Given the description of an element on the screen output the (x, y) to click on. 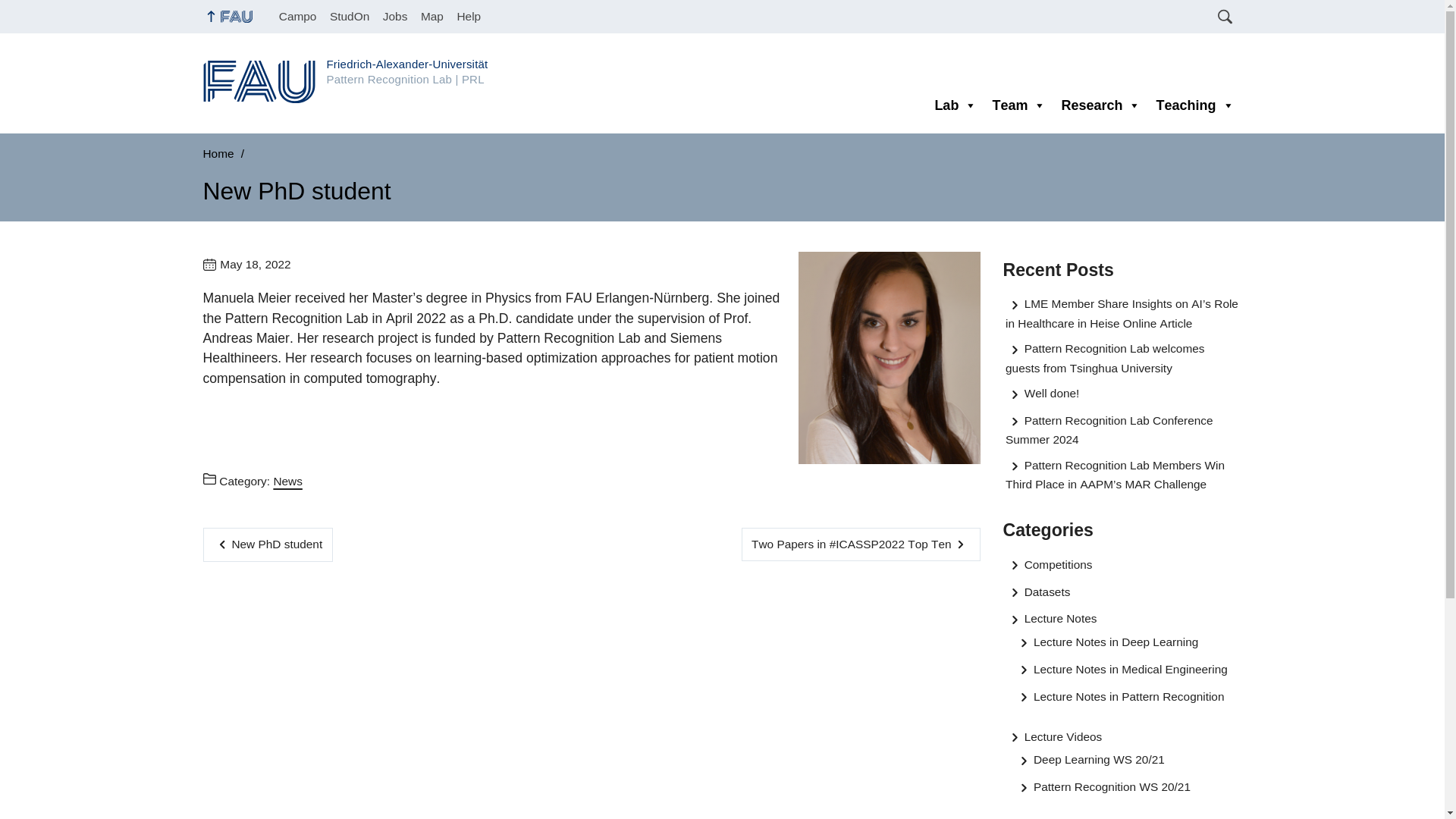
Campo (297, 16)
Help (468, 16)
Map (431, 16)
Jobs (394, 16)
StudOn (349, 16)
Teaching (1194, 105)
Team (1018, 105)
Research (1100, 105)
Lab (955, 105)
